Given the description of an element on the screen output the (x, y) to click on. 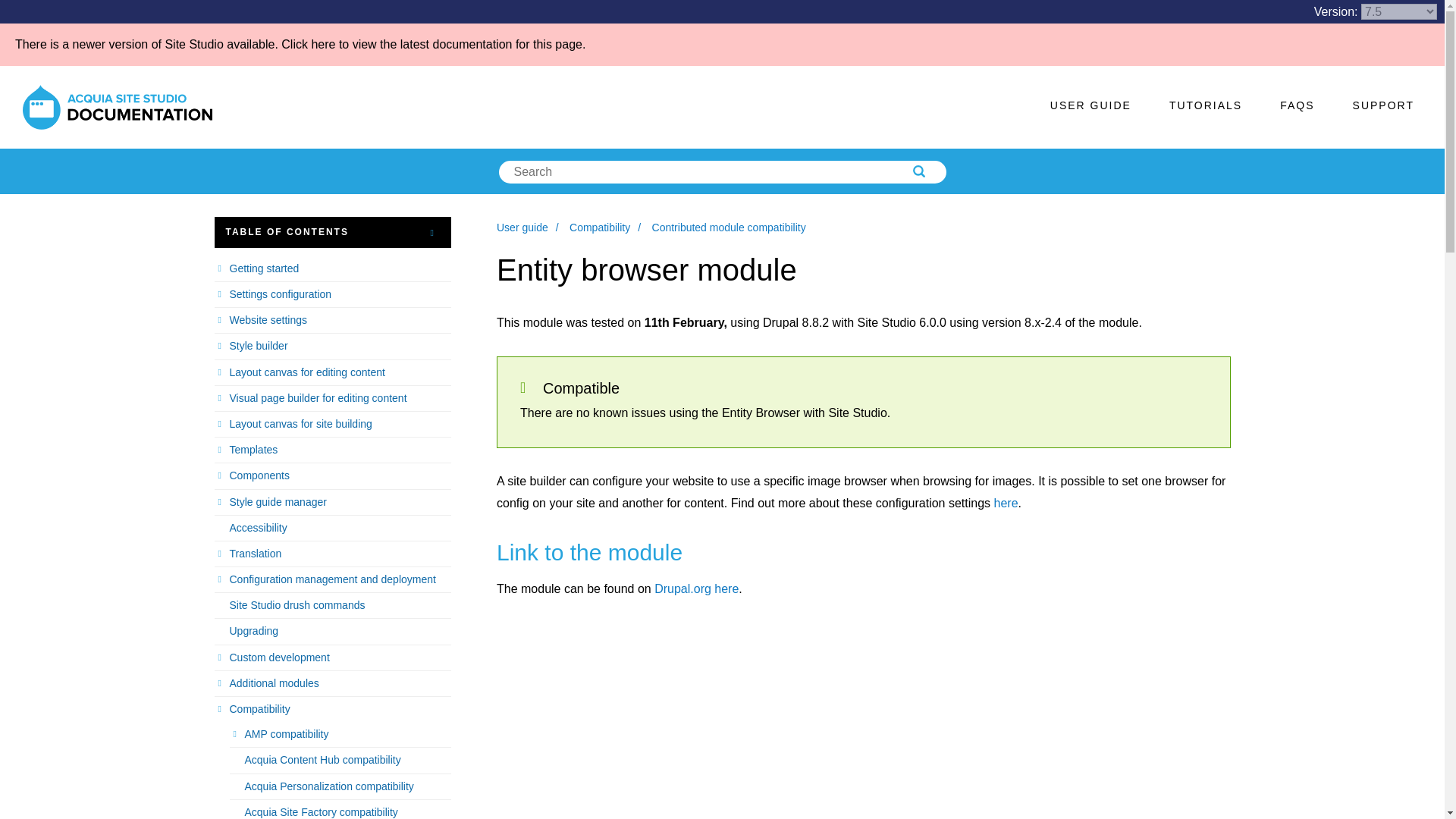
Define your website settings (332, 319)
Search (940, 171)
System settings (1005, 502)
USER GUIDE (1090, 105)
Creating styles with the style builder (332, 345)
Acquia Site Studio Documentation (117, 107)
Getting started (332, 268)
Search (940, 171)
FAQS (1297, 105)
TABLE OF CONTENTS (332, 232)
